Given the description of an element on the screen output the (x, y) to click on. 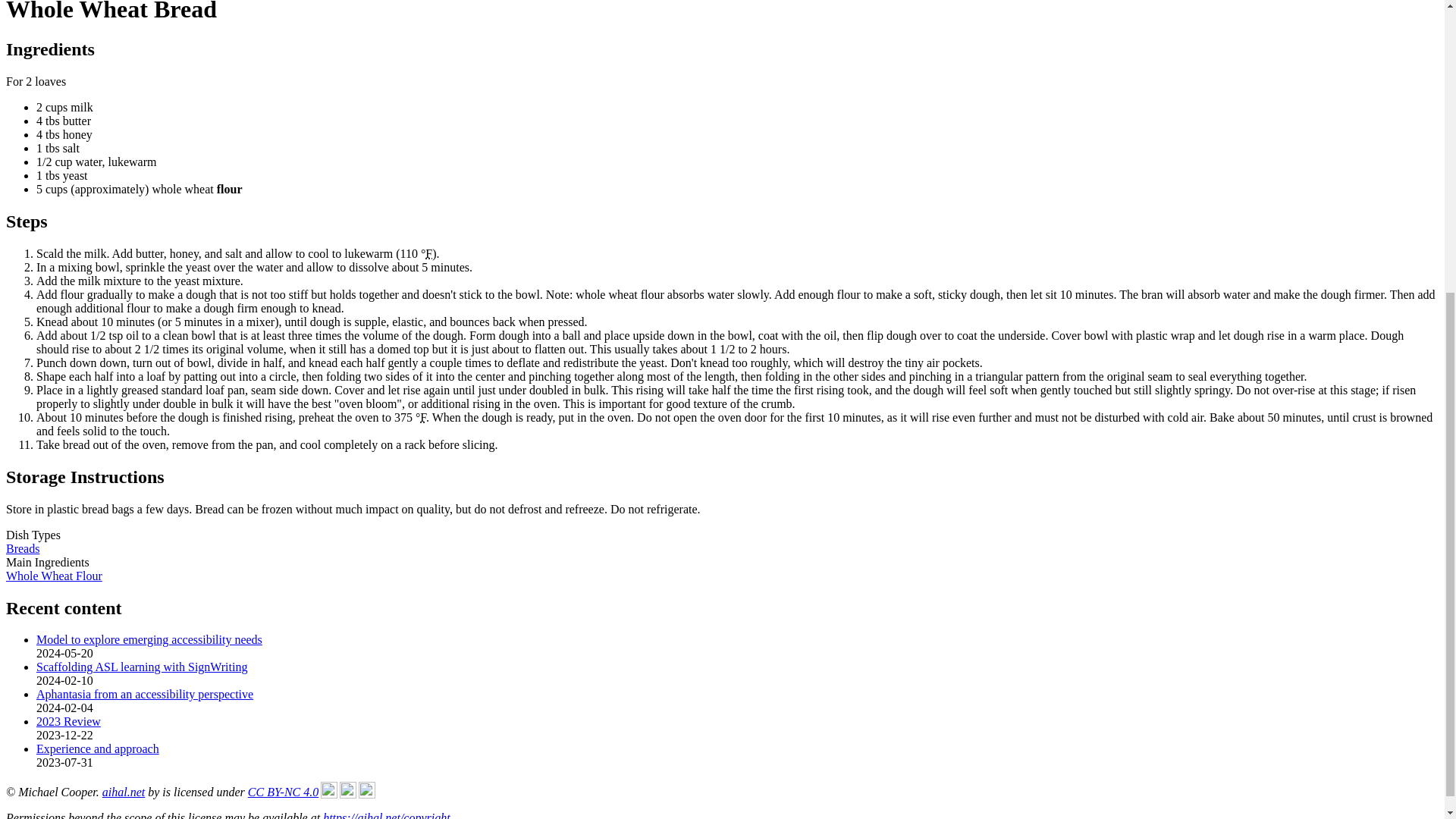
Scaffolding ASL learning with SignWriting (141, 666)
CC BY-NC 4.0 (311, 790)
Breads (22, 548)
Experience and approach (97, 748)
Aphantasia from an accessibility perspective (144, 694)
Saturday, February 10, 2024 - 10:28 (64, 680)
Model to explore emerging accessibility needs (149, 639)
Sunday, February 4, 2024 - 10:45 (64, 707)
Friday, December 22, 2023 - 15:41 (64, 735)
Monday, May 20, 2024 - 10:06 (64, 653)
Whole Wheat Flour (53, 575)
Fahrenheit (428, 253)
aihal.net (122, 791)
Monday, July 31, 2023 - 10:00 (64, 762)
Fahrenheit (423, 417)
